Given the description of an element on the screen output the (x, y) to click on. 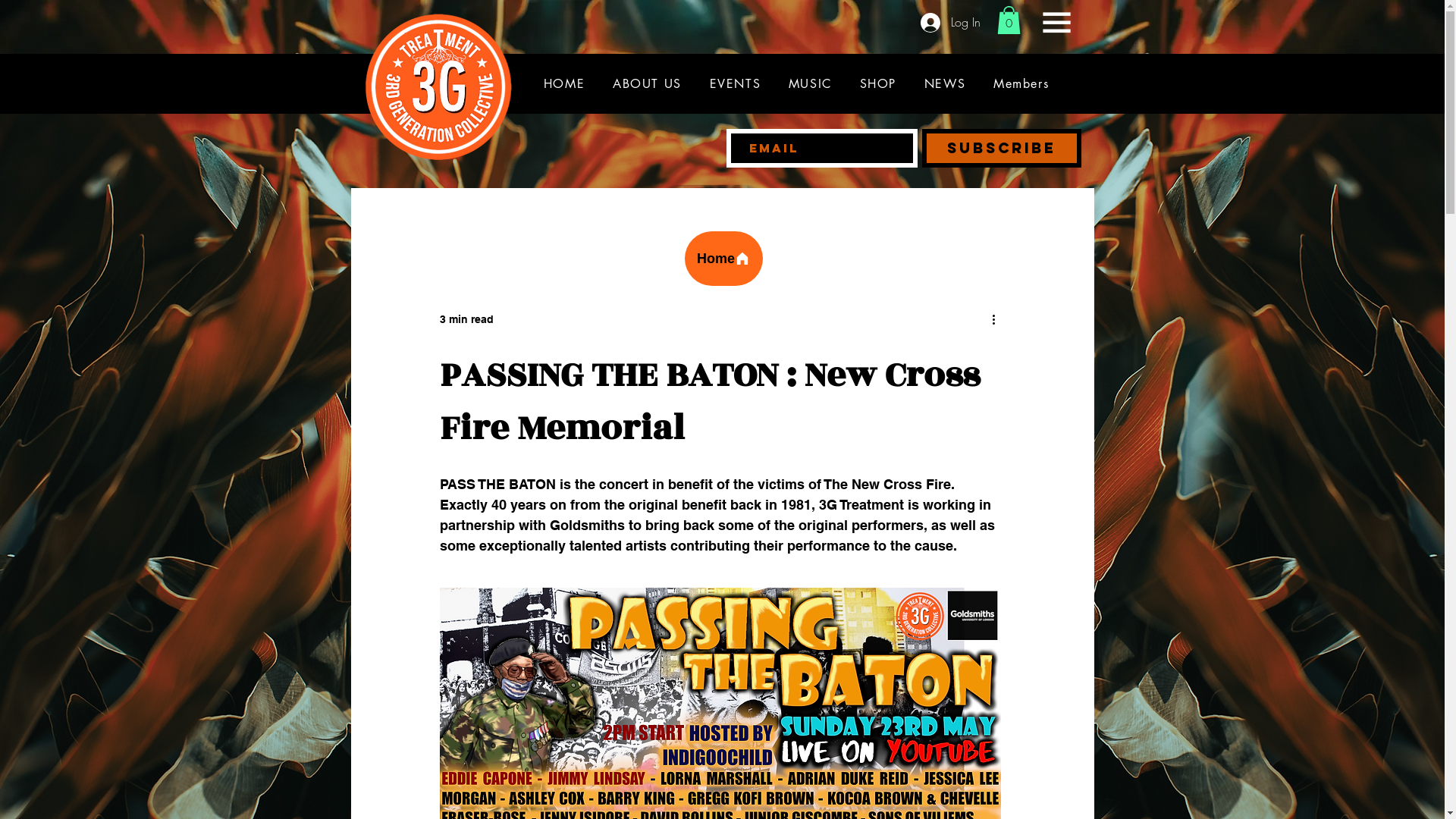
MUSIC Element type: text (810, 83)
Subscribe Element type: text (1001, 147)
Log In Element type: text (950, 21)
Members Element type: text (1021, 83)
EVENTS Element type: text (734, 83)
0 Element type: text (1007, 20)
SHOP Element type: text (877, 83)
ABOUT US Element type: text (647, 83)
HOME Element type: text (563, 83)
Home Element type: text (723, 258)
NEWS Element type: text (944, 83)
